Given the description of an element on the screen output the (x, y) to click on. 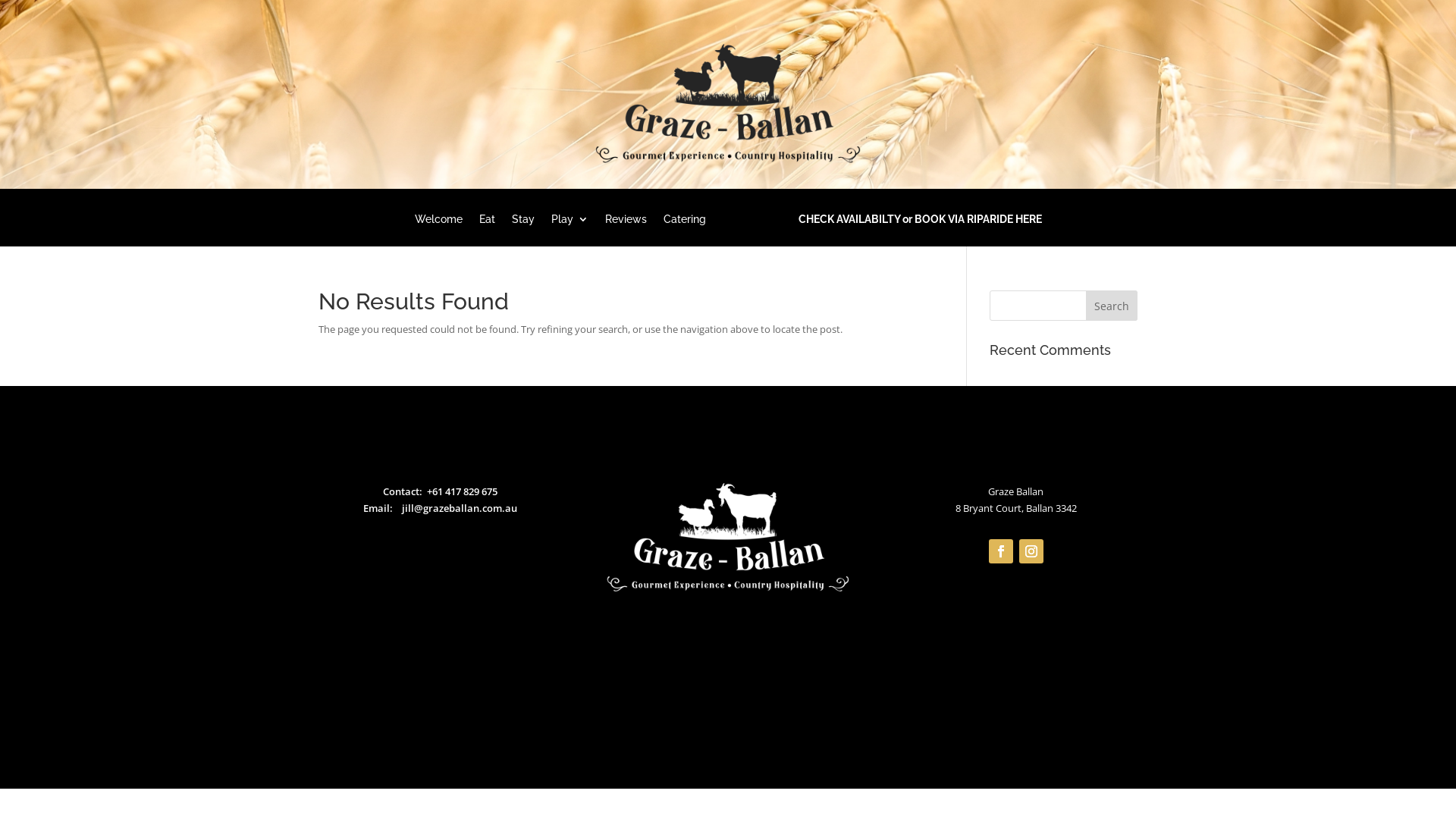
Search Element type: text (1111, 305)
Reviews Element type: text (625, 229)
Play Element type: text (568, 229)
Graze Ballan Element type: hover (727, 537)
Graze Ballan Element type: hover (727, 103)
Follow on Facebook Element type: hover (1000, 551)
+61 417 829 675 Element type: text (461, 491)
Stay Element type: text (522, 229)
Follow on Instagram Element type: hover (1031, 551)
Welcome Element type: text (437, 229)
Catering Element type: text (683, 229)
CHECK AVAILABILTY or BOOK VIA RIPARIDE HERE Element type: text (881, 229)
jill@grazeballan.com.au Element type: text (459, 507)
Eat Element type: text (487, 229)
